Given the description of an element on the screen output the (x, y) to click on. 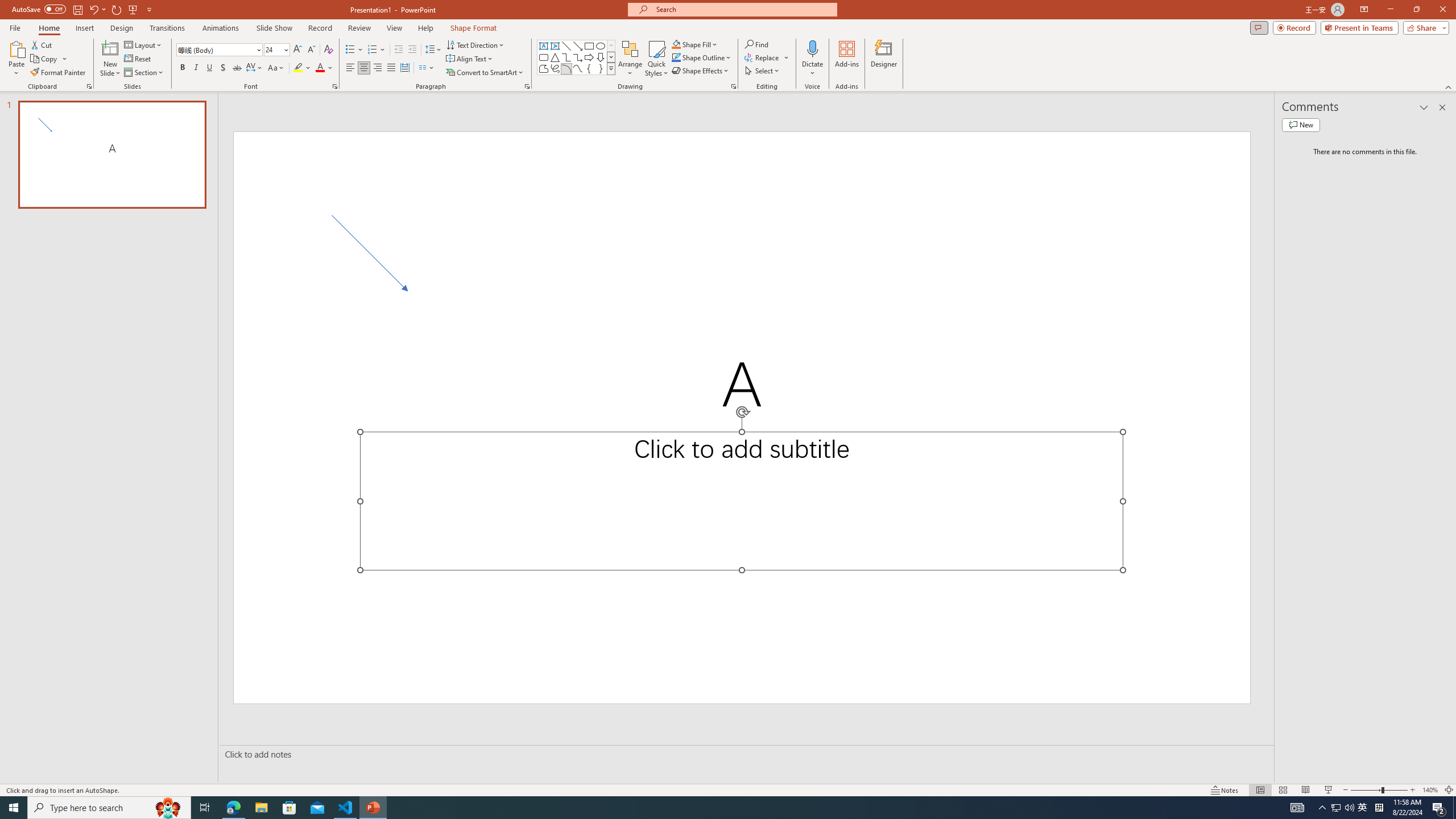
Shape Fill Orange, Accent 2 (675, 44)
